Given the description of an element on the screen output the (x, y) to click on. 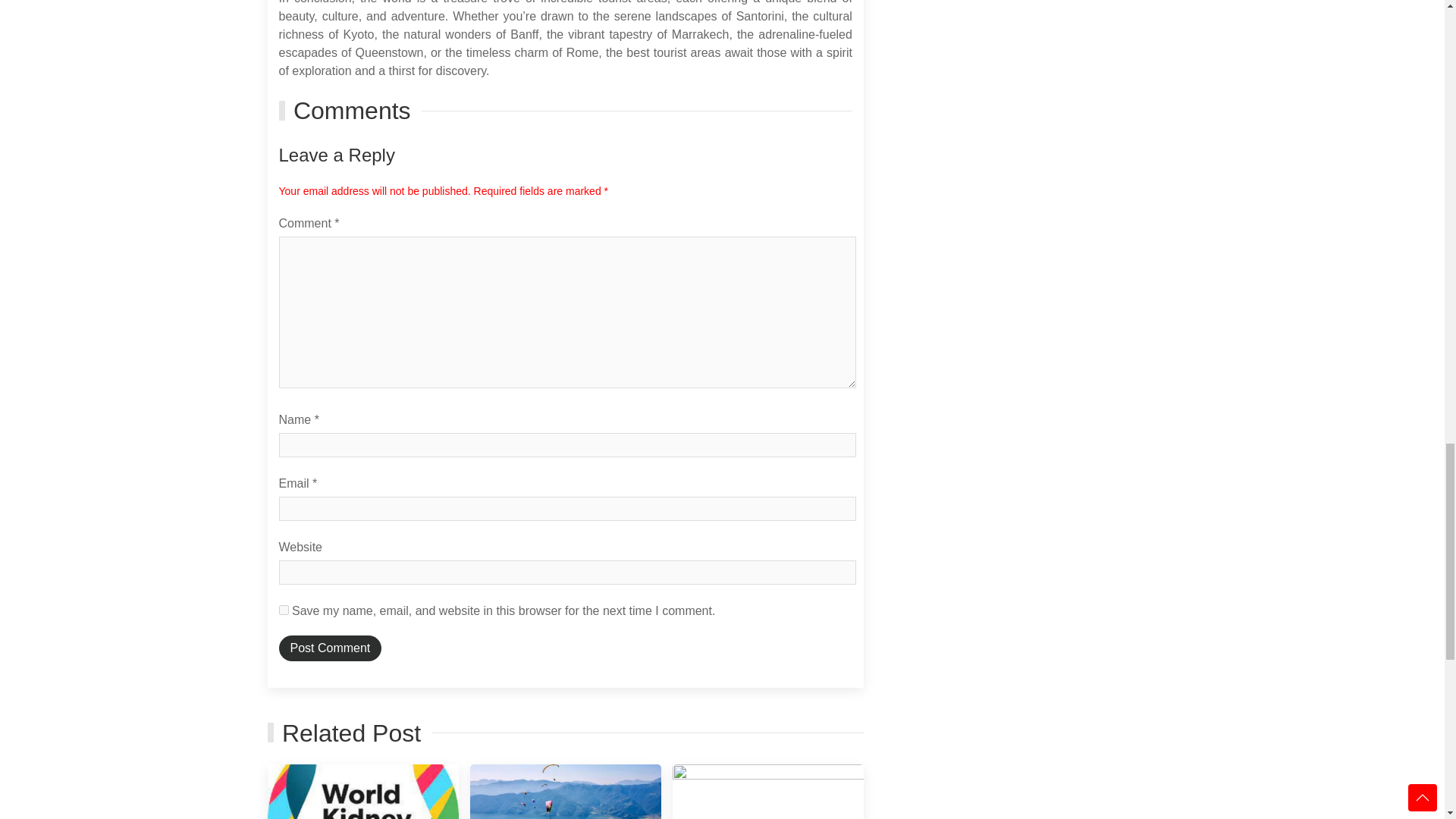
yes (283, 610)
Post Comment (330, 647)
